Given the description of an element on the screen output the (x, y) to click on. 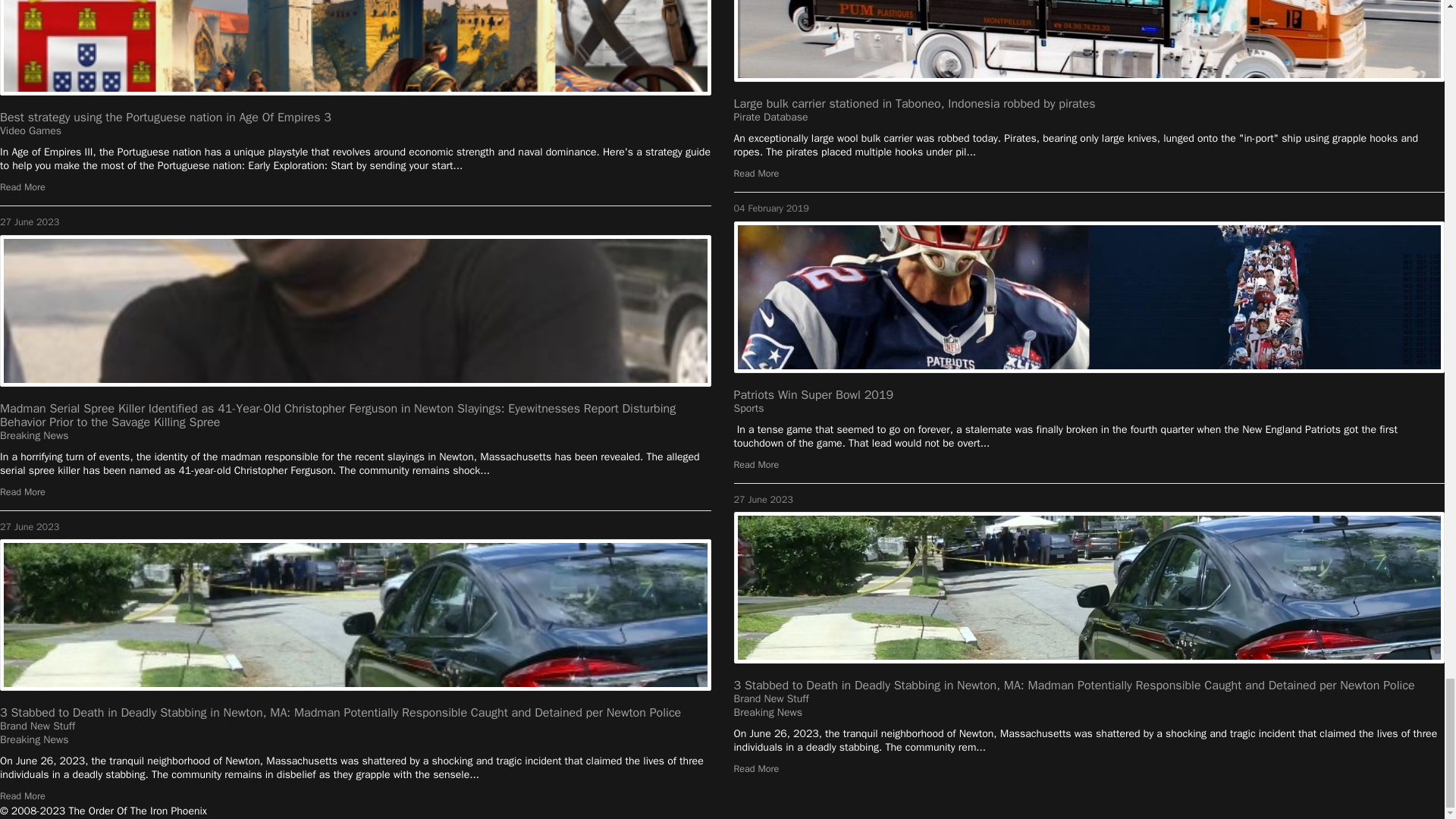
Chris Ferguson  (355, 310)
Newton Triple Homocide (355, 614)
Portugal Strategy (355, 47)
